Given the description of an element on the screen output the (x, y) to click on. 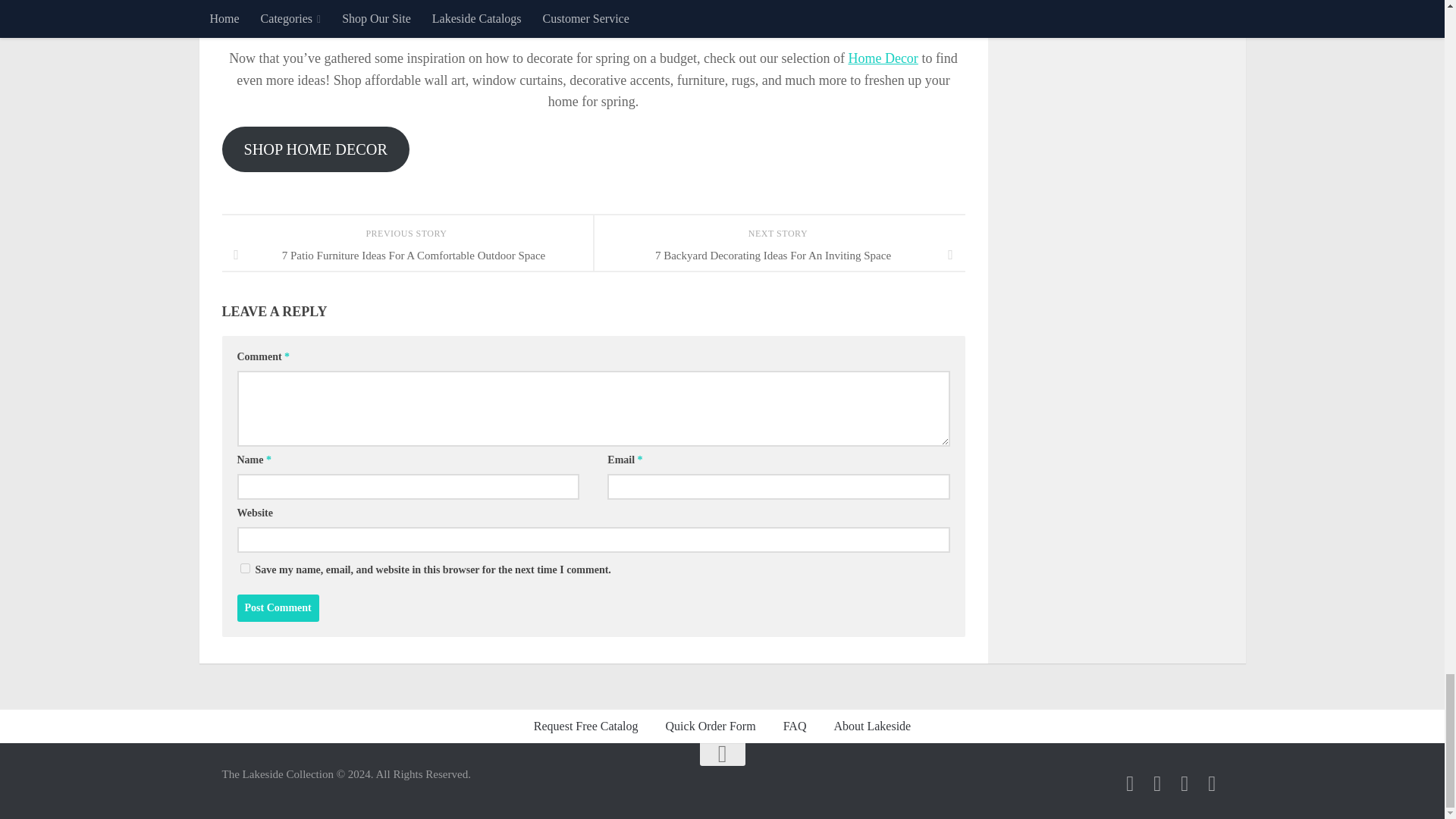
yes (244, 568)
Follow Us On Facebook (1129, 783)
Post Comment (276, 607)
Follow Us On Instagram (1184, 783)
Follow Us On Pinterest (1212, 783)
Follow Us On Twitter (1157, 783)
